Given the description of an element on the screen output the (x, y) to click on. 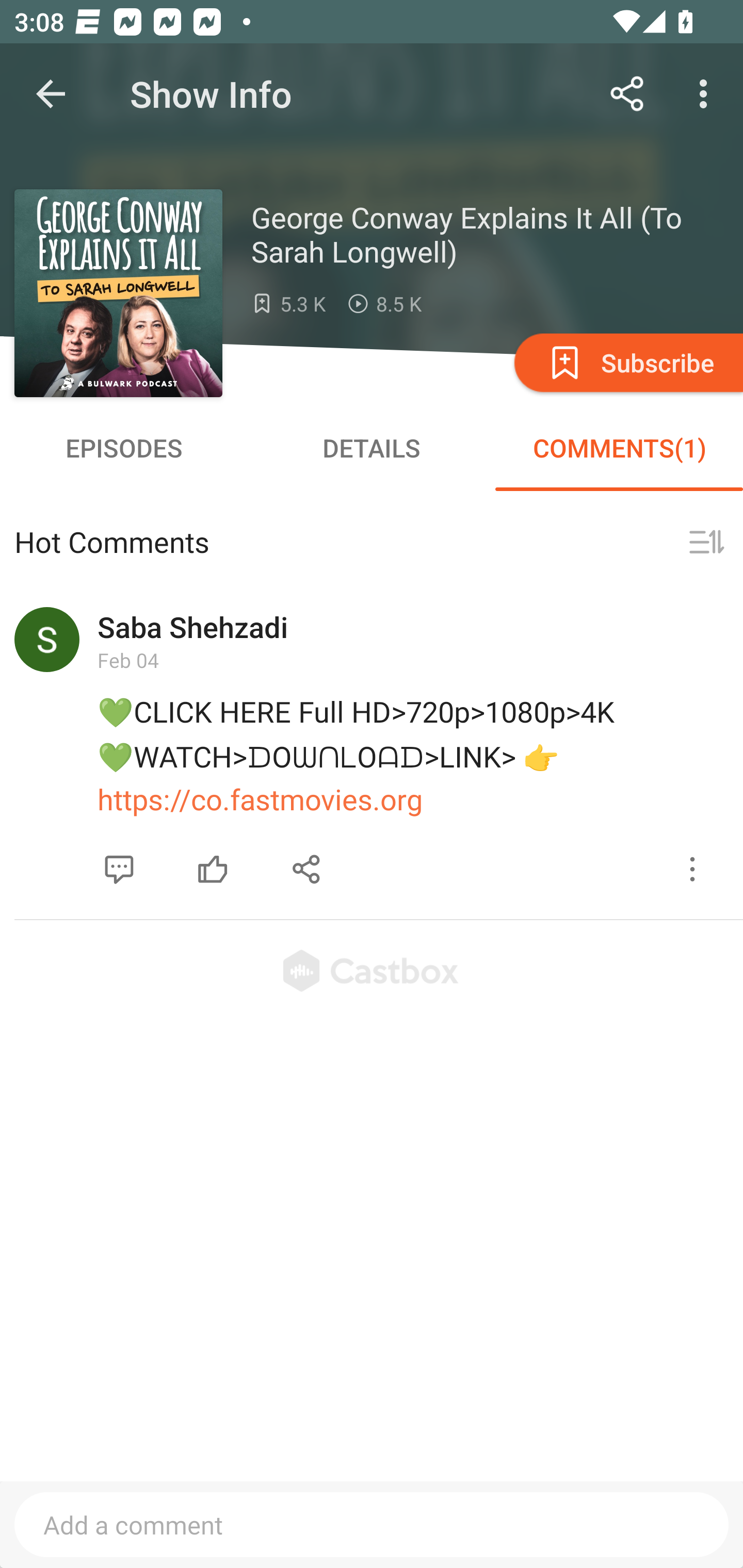
Navigate up (50, 93)
Share (626, 93)
More options (706, 93)
Subscribe (627, 361)
EPISODES (123, 447)
DETAILS (371, 447)
COMMENTS(1) (619, 447)
 (706, 542)
 (119, 869)
 (212, 869)
 (307, 869)
 (692, 869)
Add a comment (371, 1524)
